Given the description of an element on the screen output the (x, y) to click on. 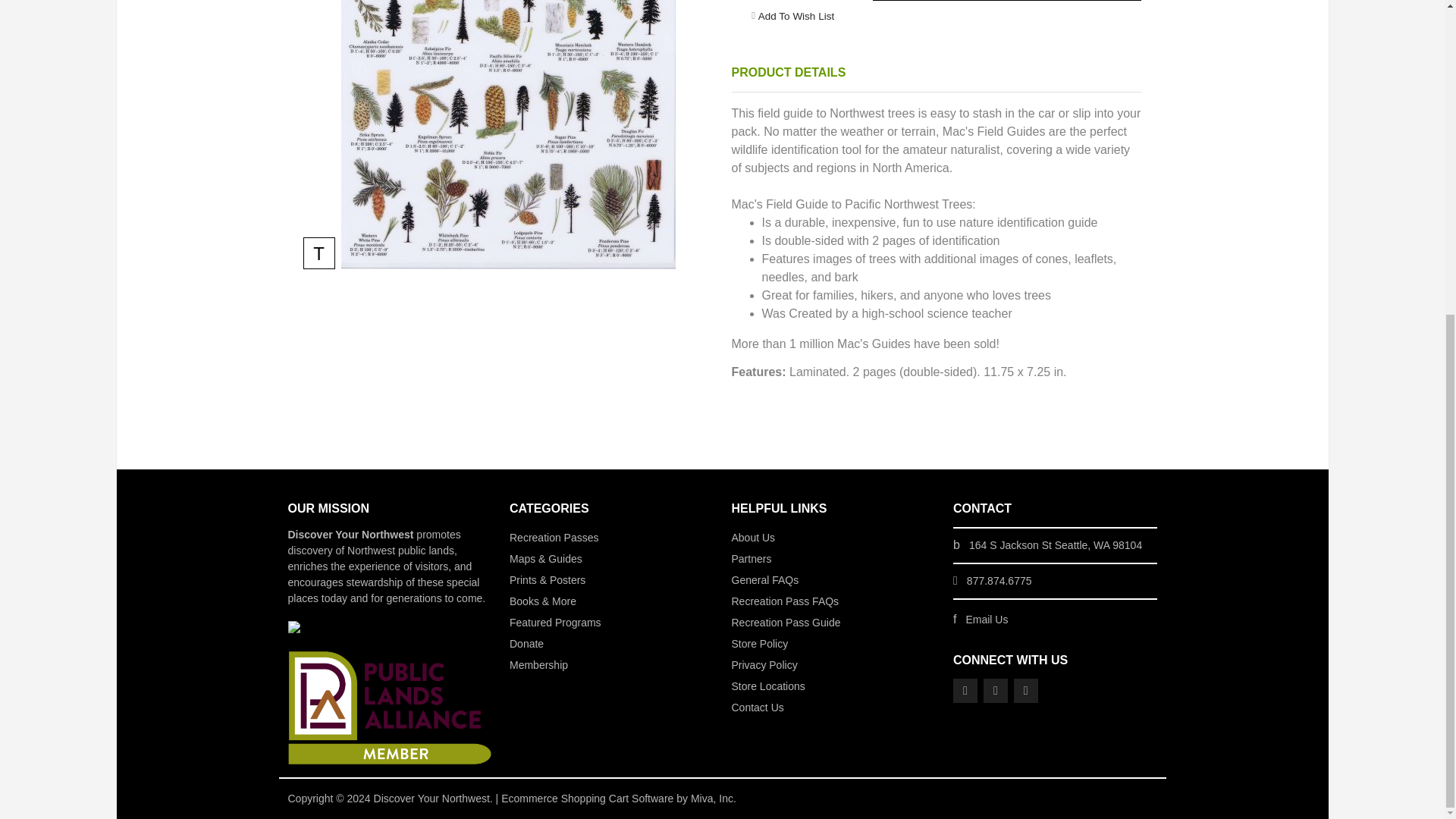
Mac's Field Guide to Pacific Northwest Trees (507, 134)
Add To Wish List (796, 15)
Add To Wish List (796, 15)
